Given the description of an element on the screen output the (x, y) to click on. 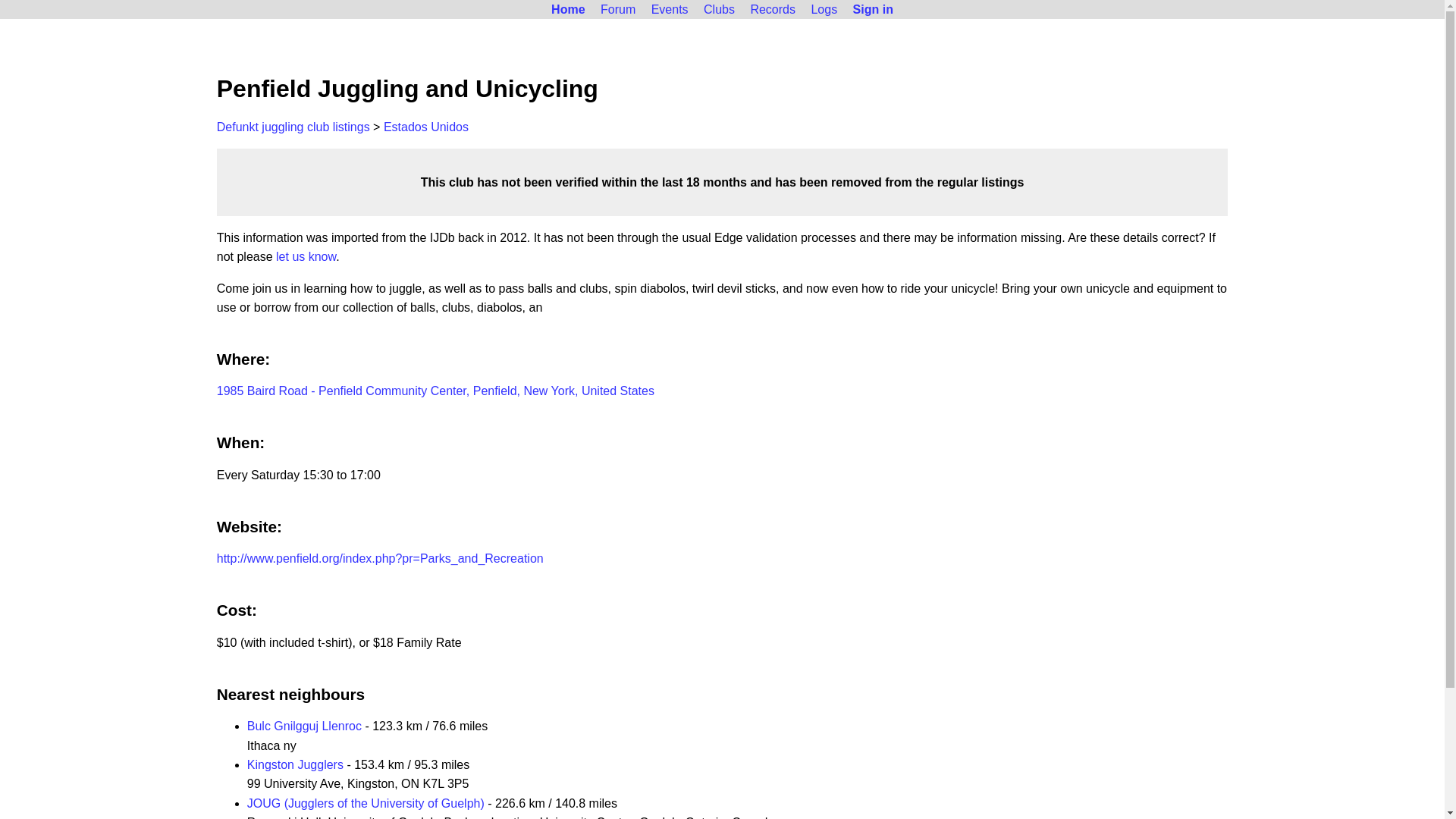
Defunkt juggling club listings (292, 126)
Bulc Gnilgguj Llenroc (304, 725)
Logs (824, 8)
Kingston Jugglers (295, 764)
let us know (306, 256)
Records (773, 8)
Forum (618, 8)
Events (669, 8)
Sign in (873, 8)
Estados Unidos (426, 126)
Clubs (719, 8)
Home (567, 8)
